Given the description of an element on the screen output the (x, y) to click on. 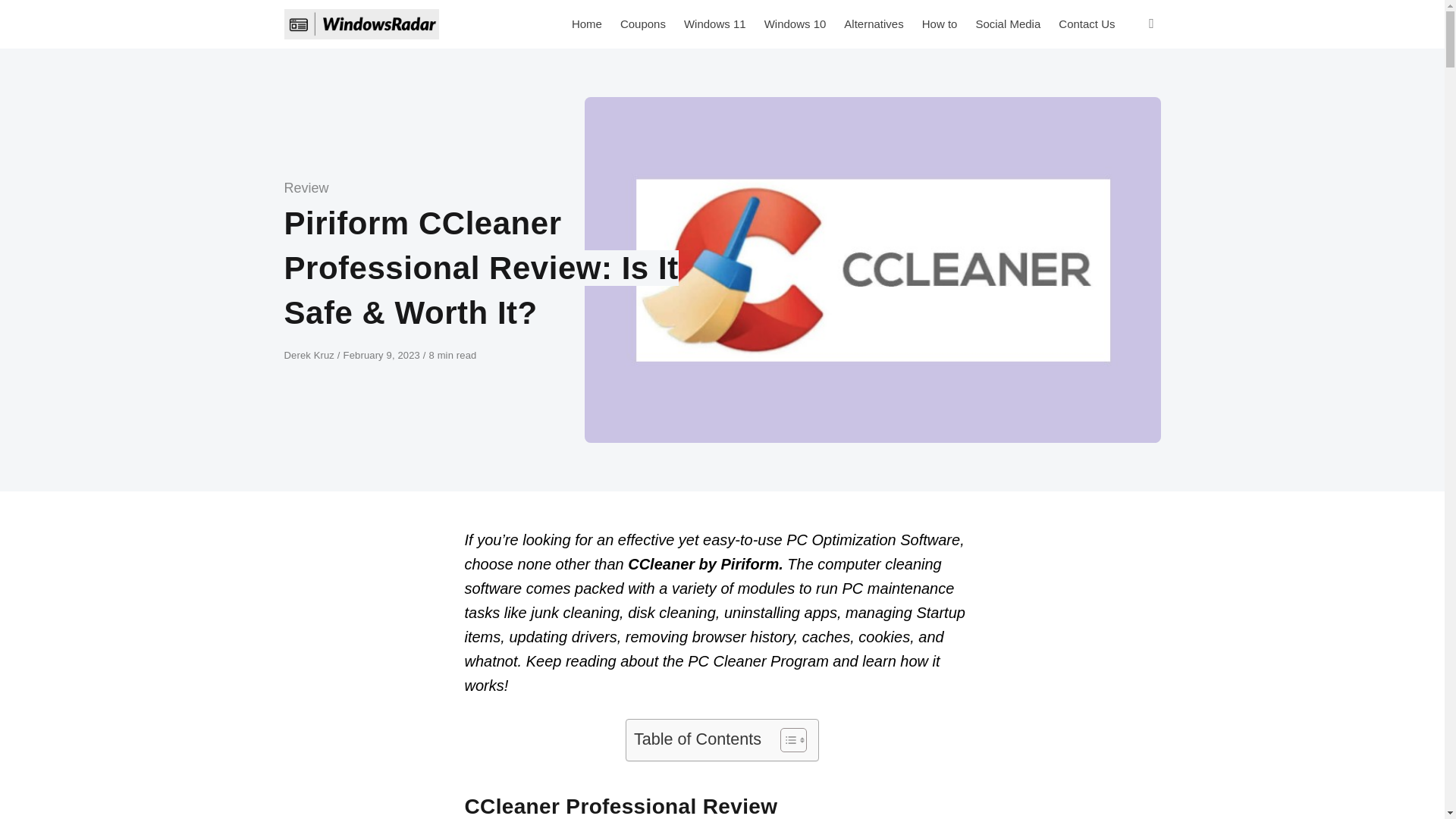
How to (939, 24)
Derek Kruz (309, 355)
February 9, 2023 (383, 355)
Home (586, 24)
Coupons (643, 24)
February 9, 2023 (383, 355)
Social Media (1007, 24)
Review (306, 187)
Windows 11 (715, 24)
Windows 10 (795, 24)
Alternatives (873, 24)
Contact Us (1086, 24)
